Given the description of an element on the screen output the (x, y) to click on. 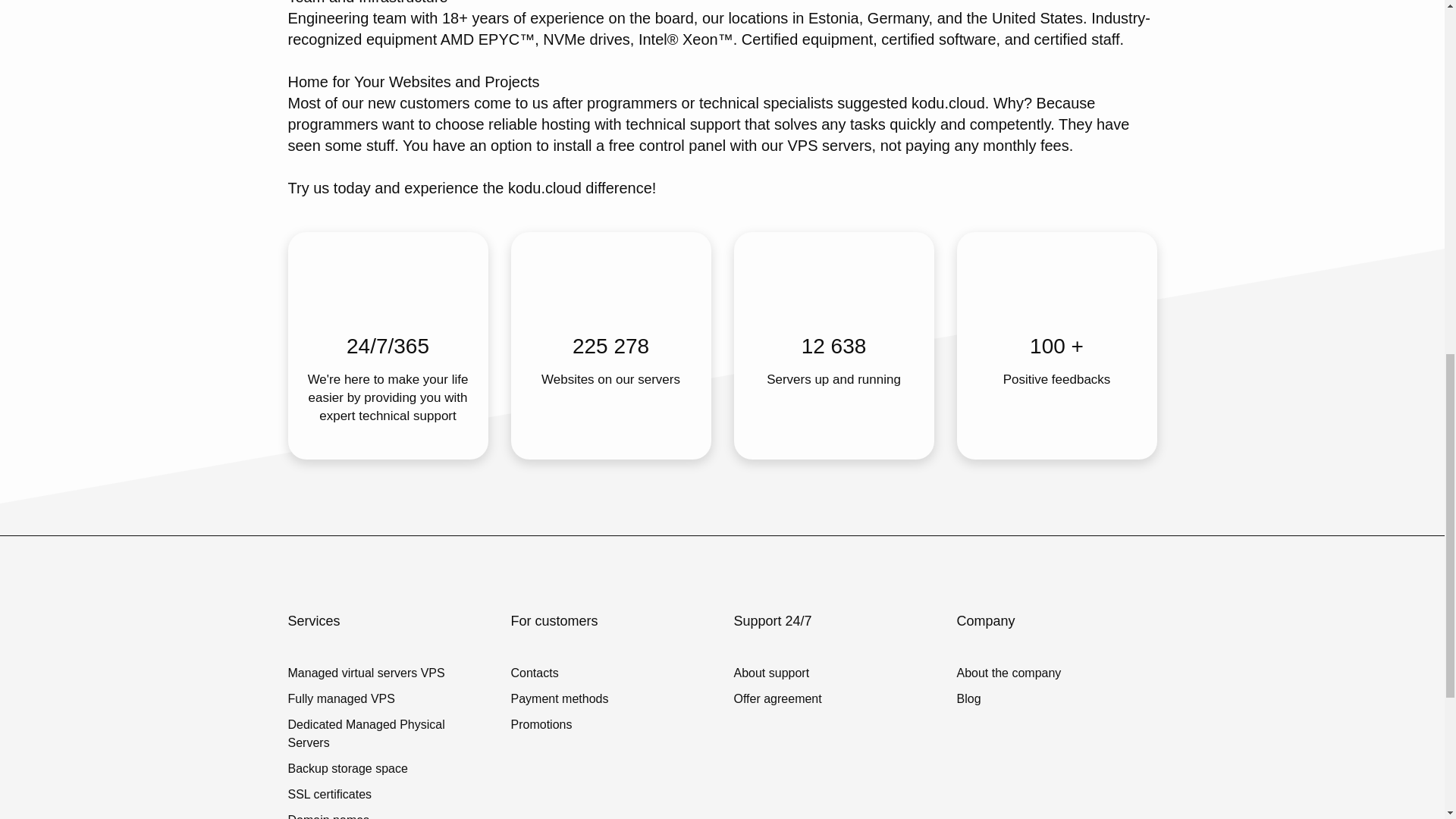
About the company (1008, 673)
Contacts (559, 673)
Blog (1008, 699)
About support (777, 673)
Domain names (387, 815)
Dedicated Managed Physical Servers (387, 733)
Backup storage space (387, 769)
Fully managed VPS (387, 699)
Promotions (559, 724)
Offer agreement (777, 699)
